Given the description of an element on the screen output the (x, y) to click on. 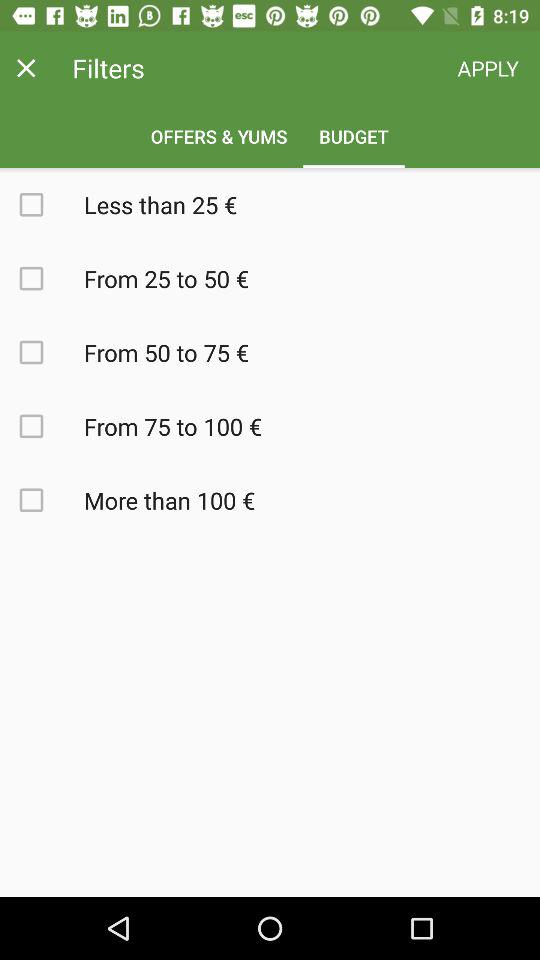
mark to choose this filter (41, 352)
